Given the description of an element on the screen output the (x, y) to click on. 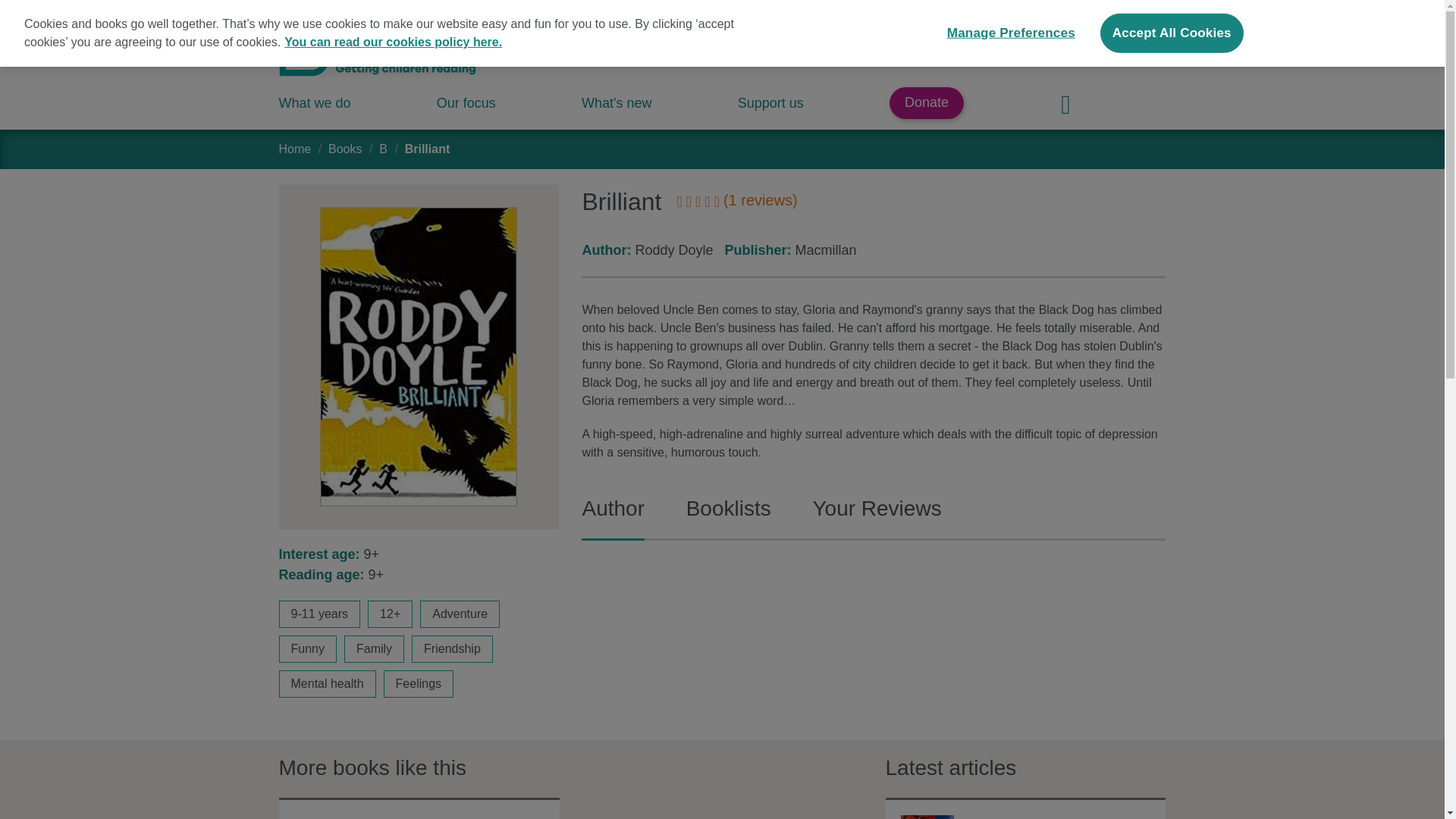
10 winning children's books about sport (1055, 817)
Practitioner Area (1087, 22)
BookTrust Logo (377, 51)
Home (295, 148)
What we do (314, 103)
10 winning children's books about sport (927, 816)
